Given the description of an element on the screen output the (x, y) to click on. 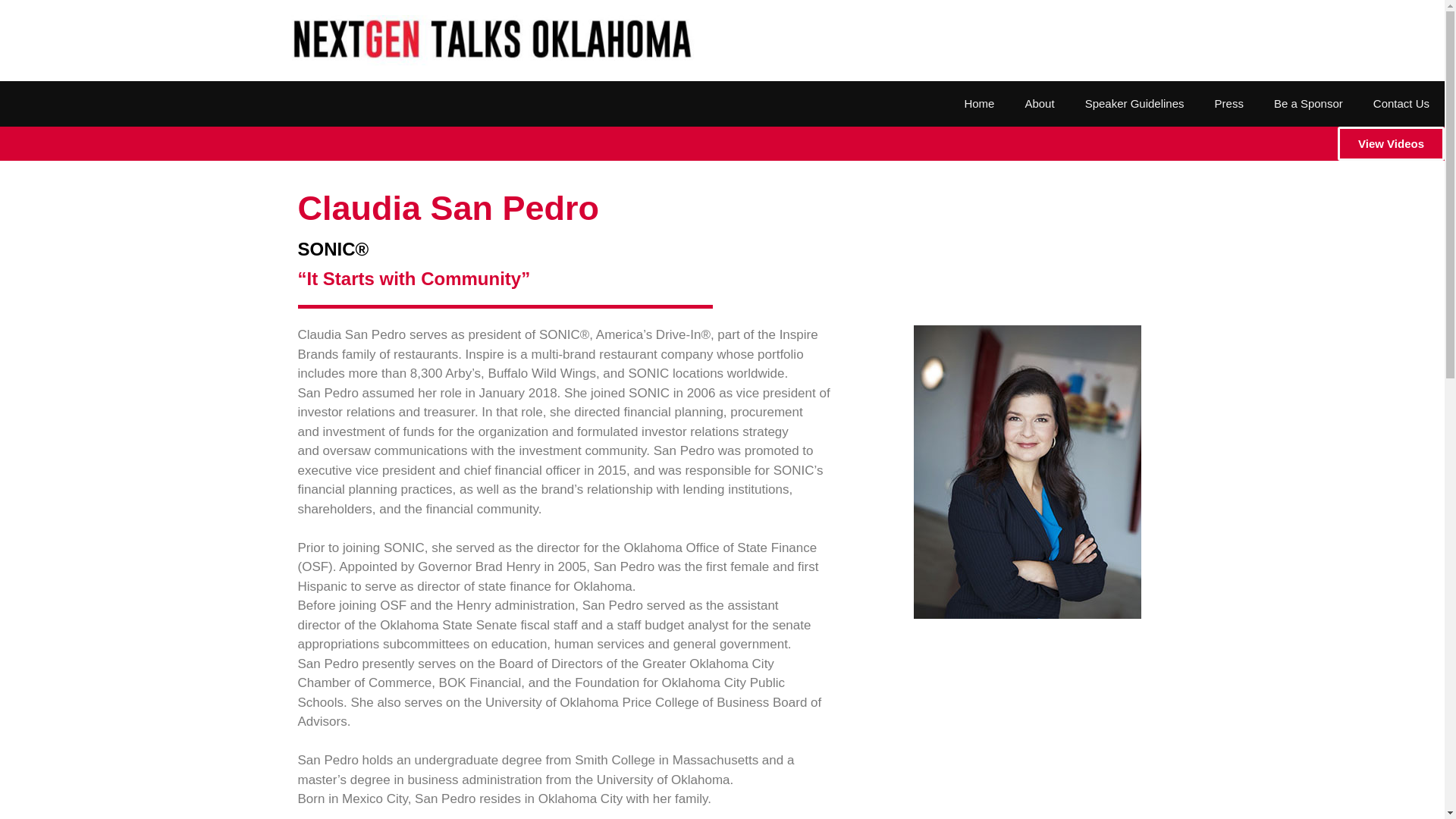
Be a Sponsor (1308, 103)
About (1038, 103)
Home (979, 103)
Press (1229, 103)
Speaker Guidelines (1134, 103)
